Given the description of an element on the screen output the (x, y) to click on. 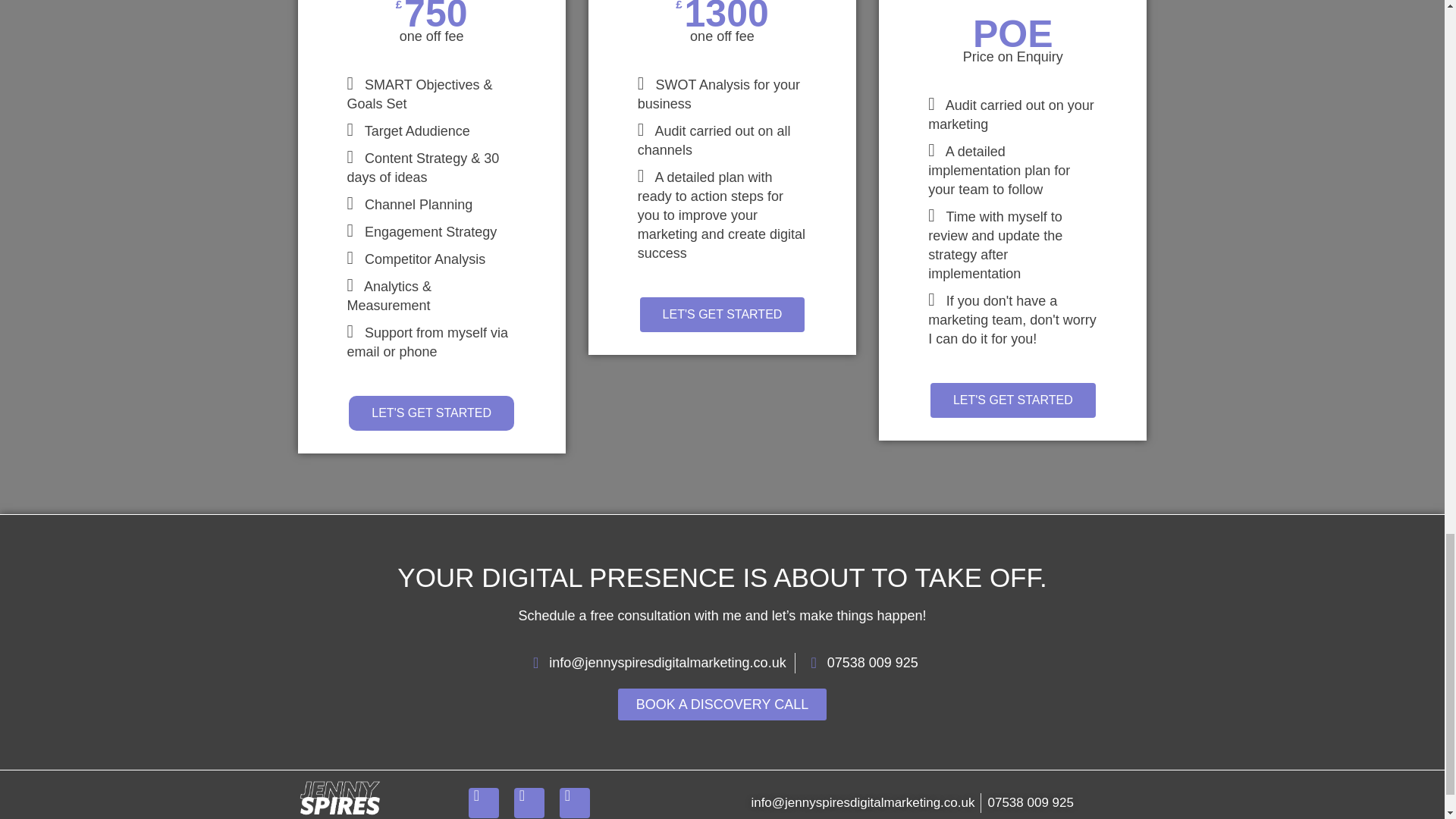
07538 009 925 (1030, 803)
LET'S GET STARTED (1013, 400)
BOOK A DISCOVERY CALL (722, 704)
LET'S GET STARTED (722, 314)
LET'S GET STARTED (431, 412)
07538 009 925 (861, 662)
